Given the description of an element on the screen output the (x, y) to click on. 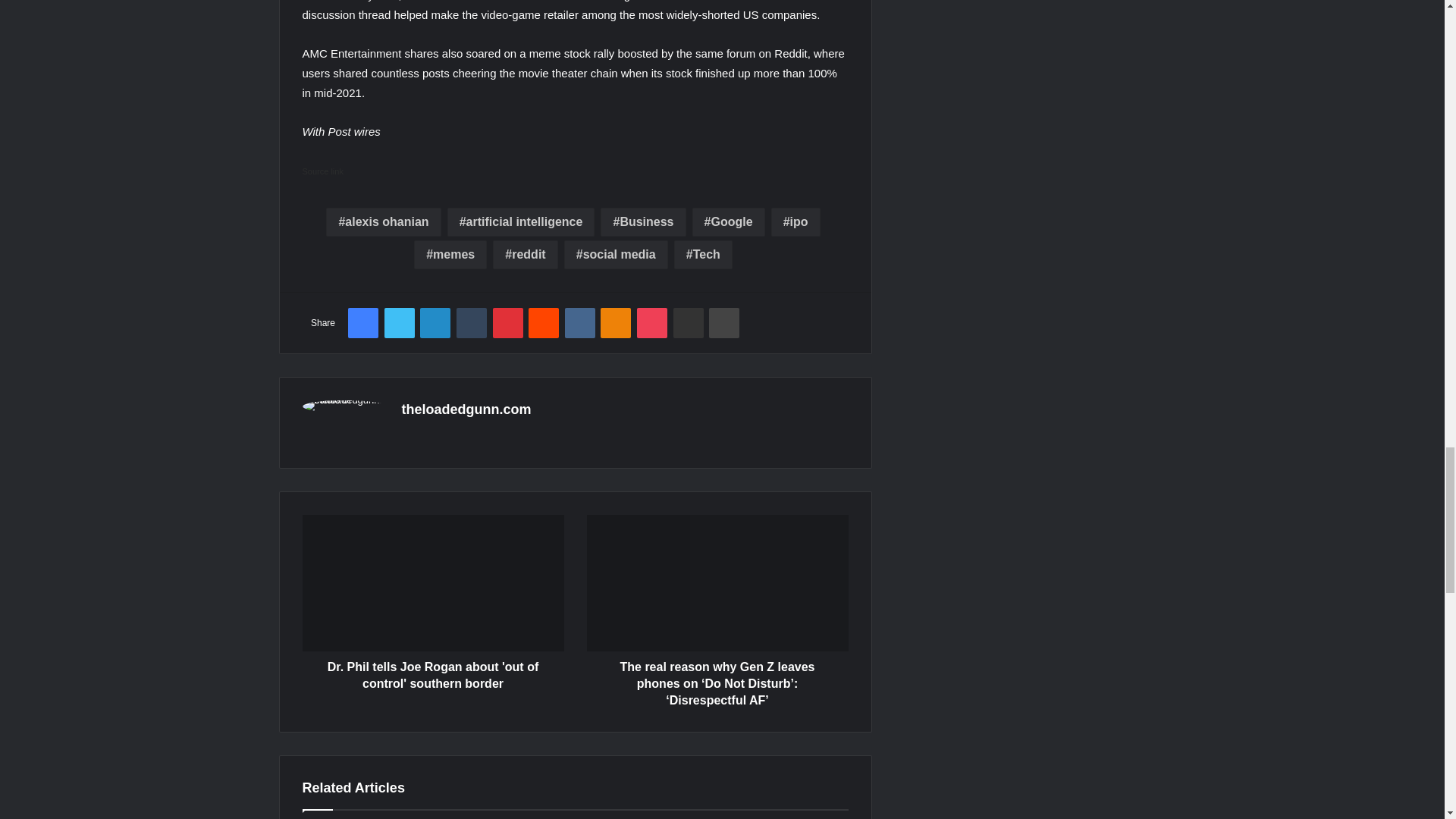
reddit (525, 254)
memes (449, 254)
Business (642, 222)
Google (729, 222)
artificial intelligence (520, 222)
Source link (321, 171)
ipo (796, 222)
alexis ohanian (383, 222)
